Given the description of an element on the screen output the (x, y) to click on. 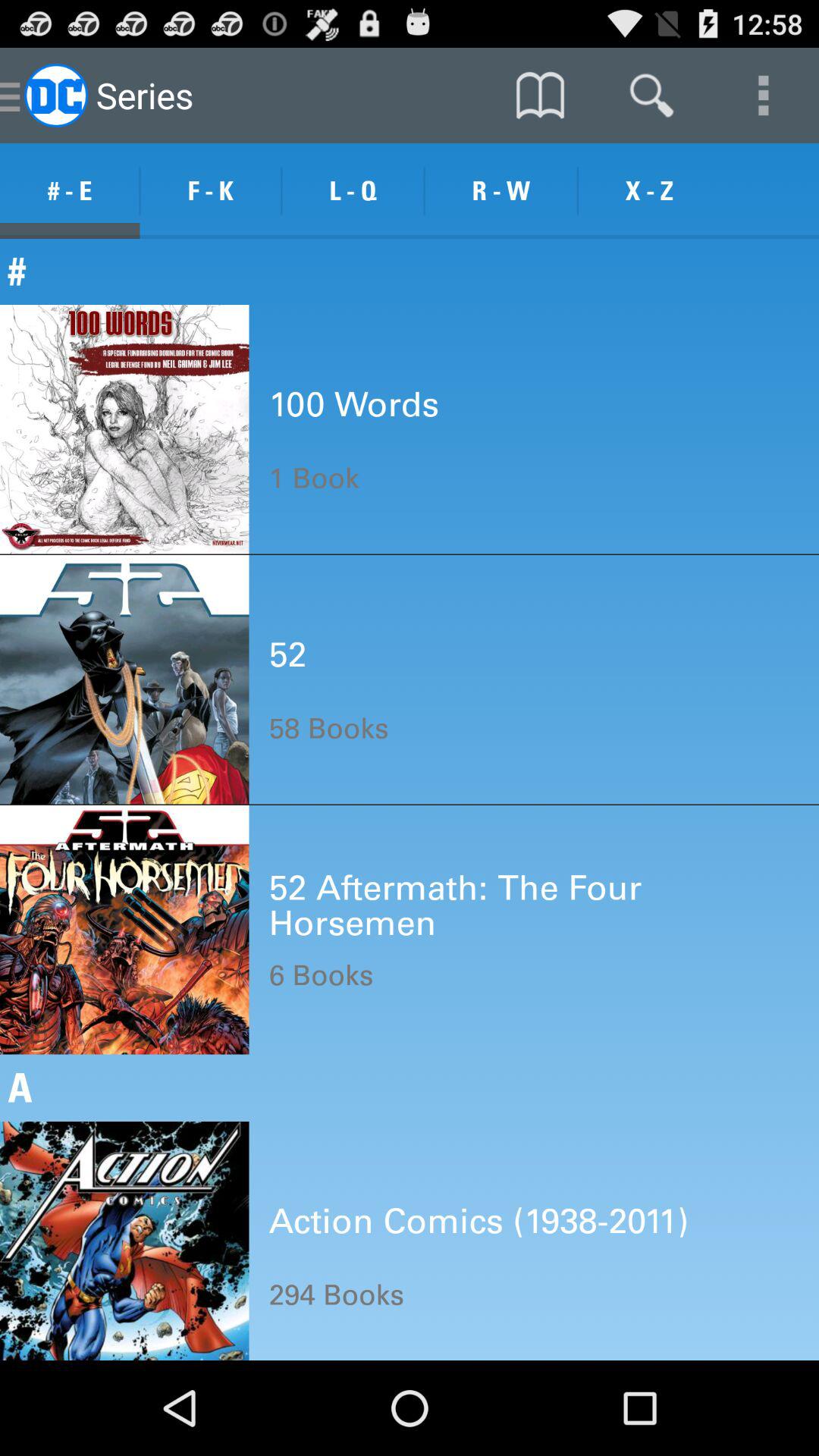
open the a (409, 1087)
